Given the description of an element on the screen output the (x, y) to click on. 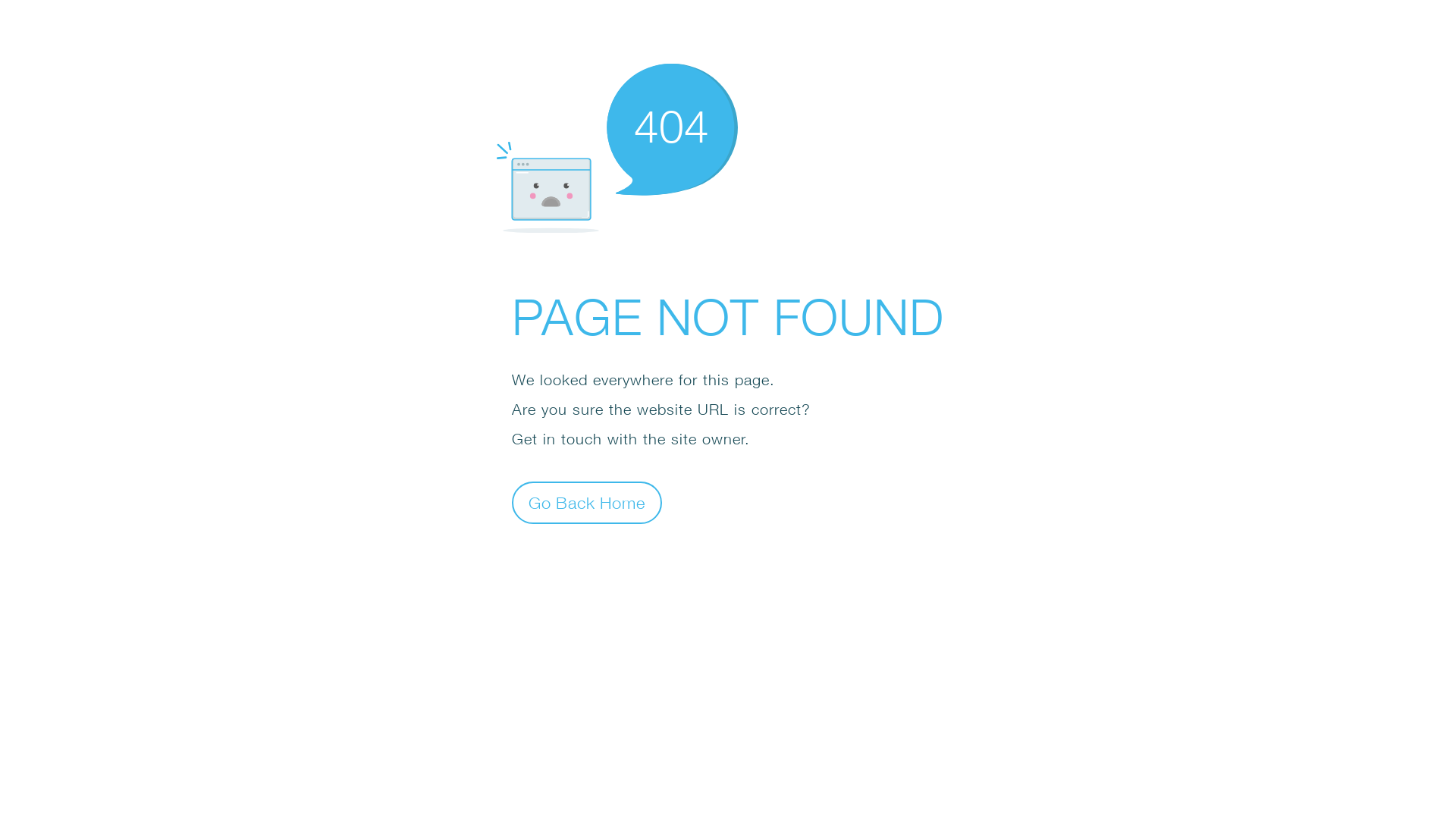
Go Back Home Element type: text (586, 502)
